Given the description of an element on the screen output the (x, y) to click on. 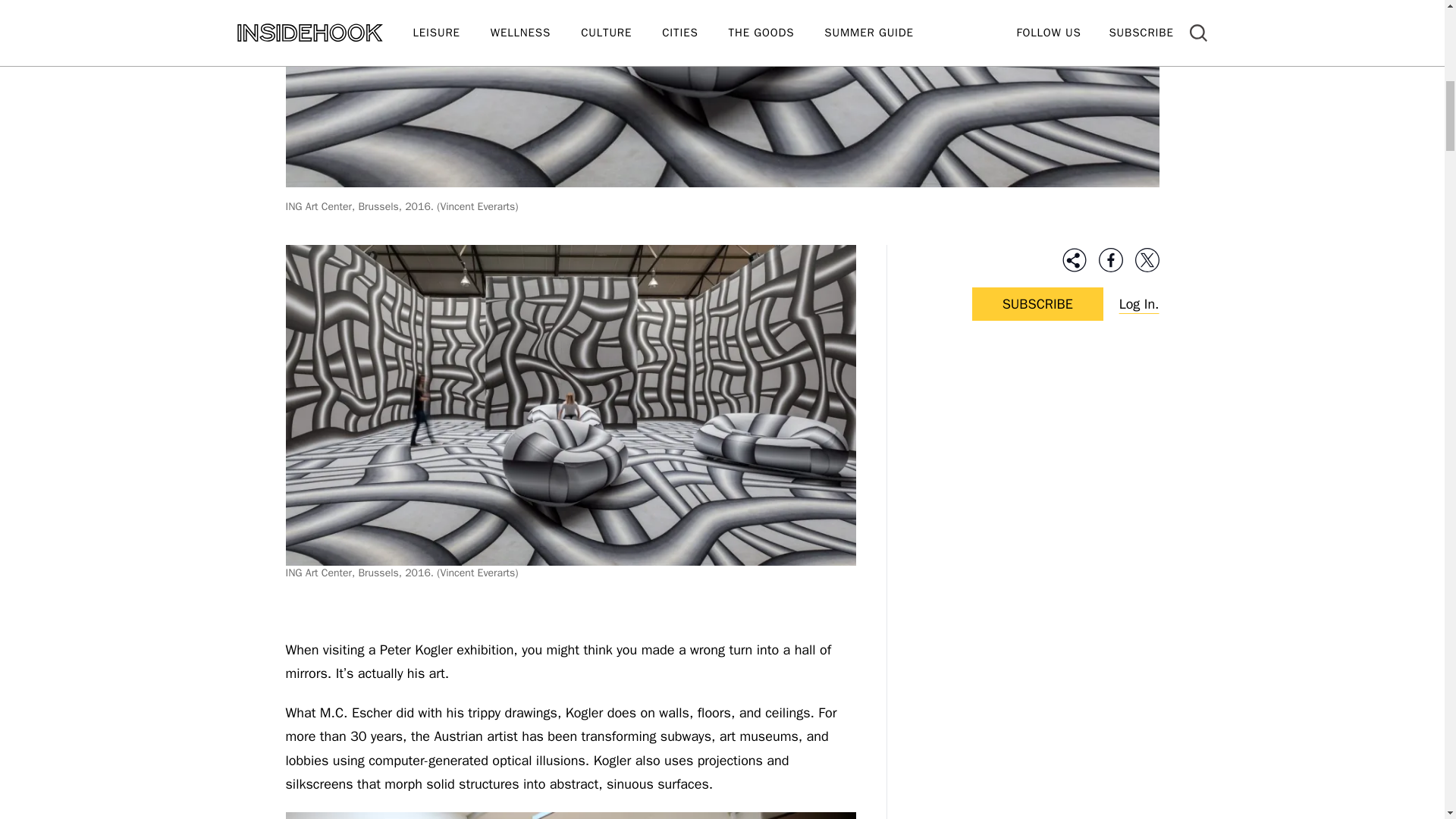
3rd party ad content (1037, 452)
